Given the description of an element on the screen output the (x, y) to click on. 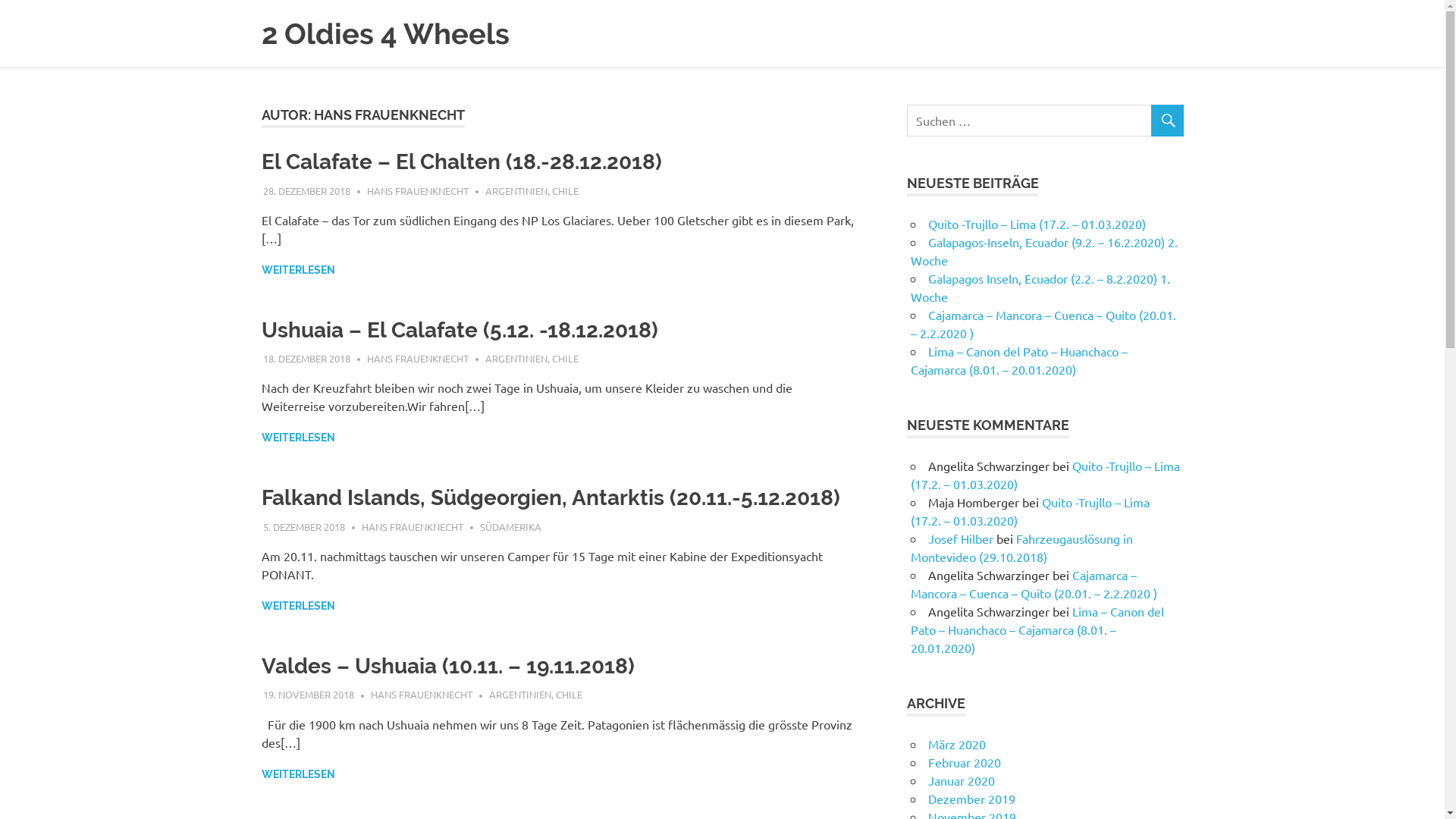
WEITERLESEN Element type: text (297, 606)
Februar 2020 Element type: text (964, 761)
CHILE Element type: text (568, 693)
18. DEZEMBER 2018 Element type: text (306, 357)
Dezember 2019 Element type: text (971, 798)
Zum Inhalt springen Element type: text (0, 0)
HANS FRAUENKNECHT Element type: text (417, 357)
HANS FRAUENKNECHT Element type: text (417, 189)
28. DEZEMBER 2018 Element type: text (306, 189)
CHILE Element type: text (565, 357)
19. NOVEMBER 2018 Element type: text (308, 693)
ARGENTINIEN Element type: text (520, 693)
WEITERLESEN Element type: text (297, 773)
CHILE Element type: text (565, 189)
5. DEZEMBER 2018 Element type: text (304, 526)
ARGENTINIEN Element type: text (516, 357)
Josef Hilber Element type: text (960, 538)
ARGENTINIEN Element type: text (516, 189)
WEITERLESEN Element type: text (297, 437)
HANS FRAUENKNECHT Element type: text (421, 693)
Januar 2020 Element type: text (961, 779)
WEITERLESEN Element type: text (297, 270)
HANS FRAUENKNECHT Element type: text (412, 526)
2 Oldies 4 Wheels Element type: text (384, 33)
Suchen nach: Element type: hover (1044, 120)
